Given the description of an element on the screen output the (x, y) to click on. 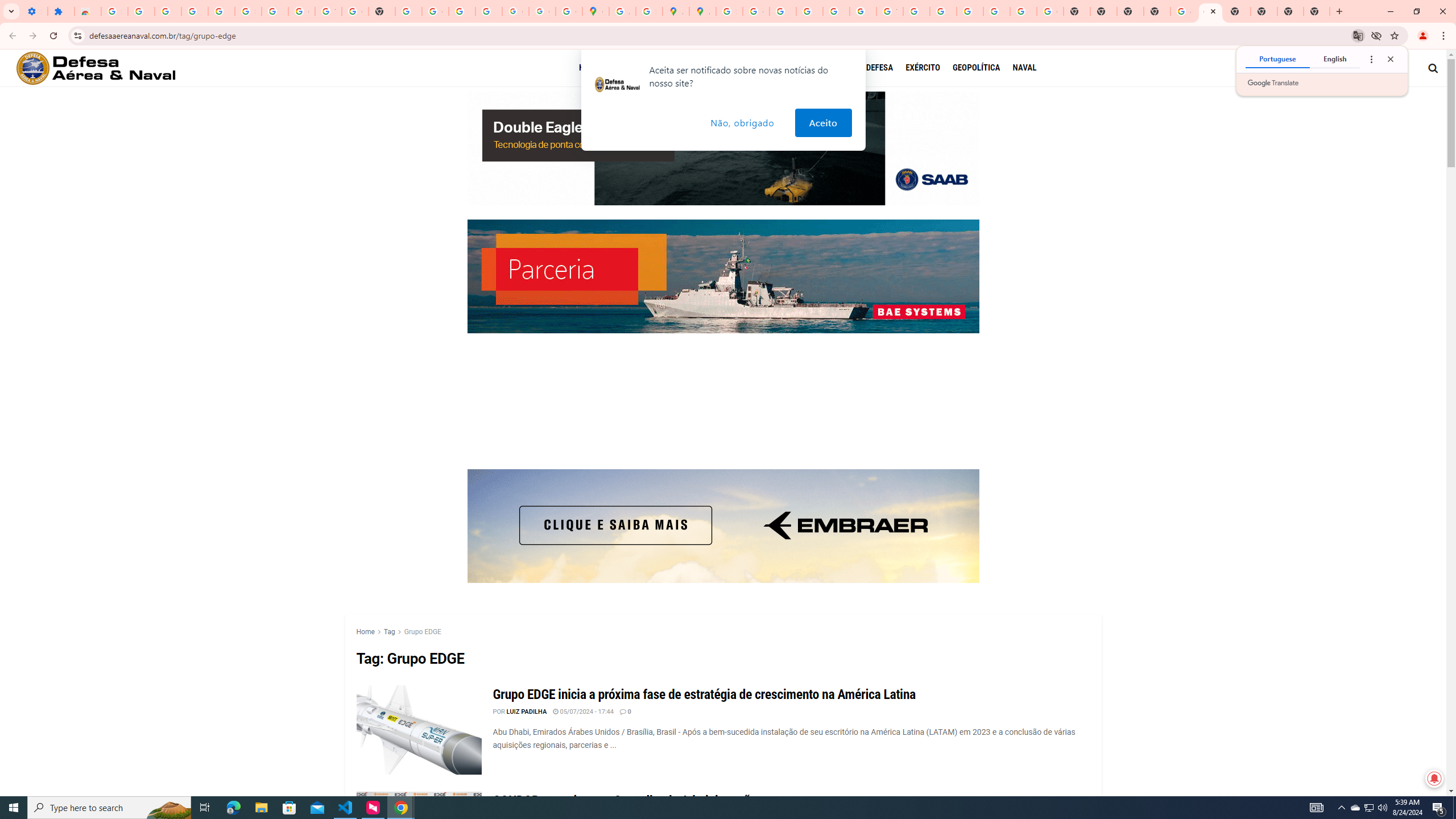
Google Images (1050, 11)
AutomationID: menu-item-277 (598, 67)
Portuguese (1277, 58)
New Tab (1156, 11)
Google Account (301, 11)
Privacy Help Center - Policies Help (809, 11)
LUIZ PADILHA (526, 711)
